Given the description of an element on the screen output the (x, y) to click on. 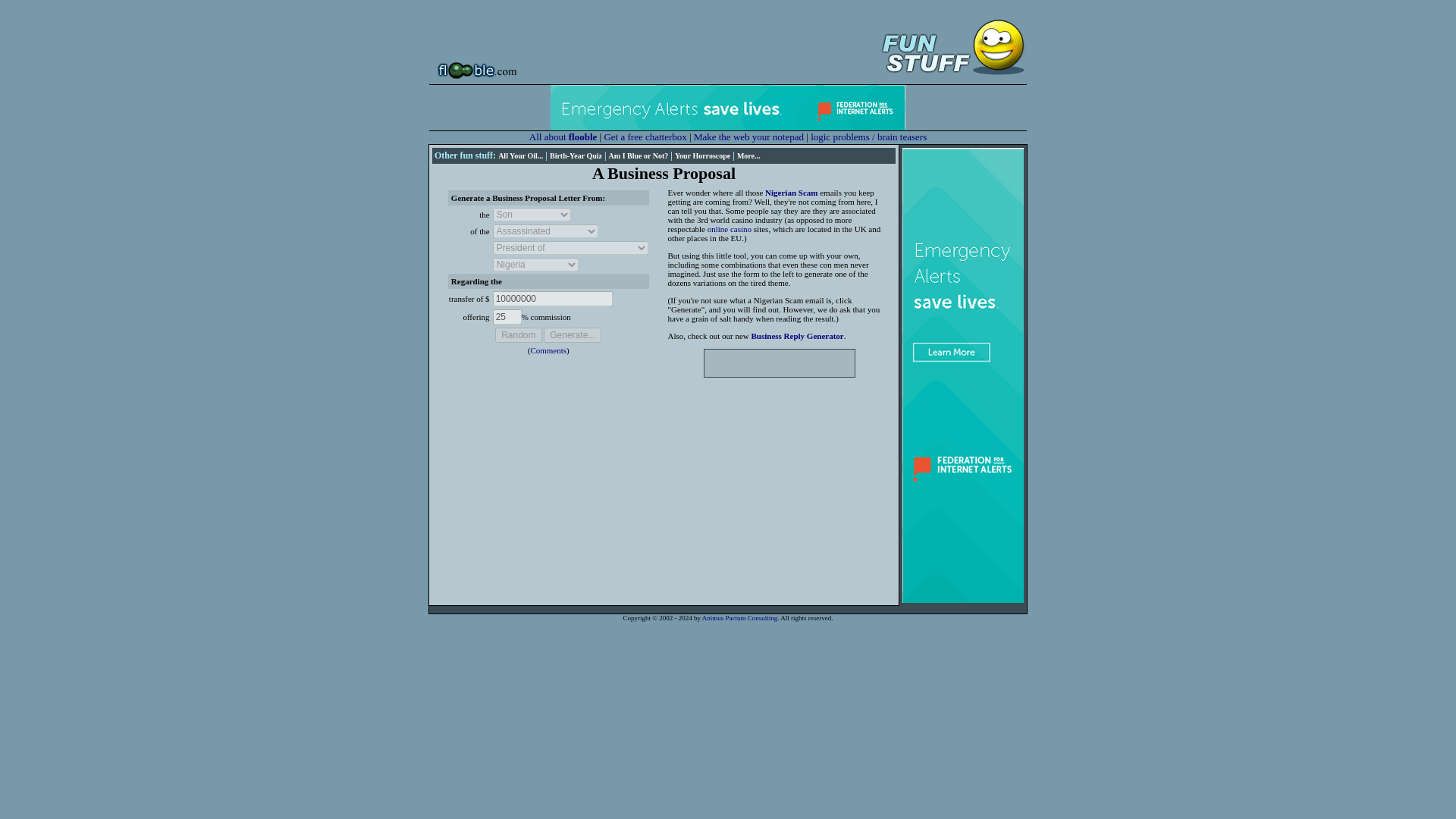
Comments (547, 349)
10000000 (552, 298)
All Your Oil... (520, 155)
25 (507, 316)
Animus Pactum Consulting (739, 617)
Generate... (572, 335)
Random (518, 335)
More... (748, 155)
Generate... (572, 335)
Business Reply Generator (797, 335)
Nigerian Scam (790, 192)
All about flooble (562, 136)
Make the web your notepad (748, 136)
Fun Stuff (950, 44)
Get a free chatterbox (644, 136)
